Given the description of an element on the screen output the (x, y) to click on. 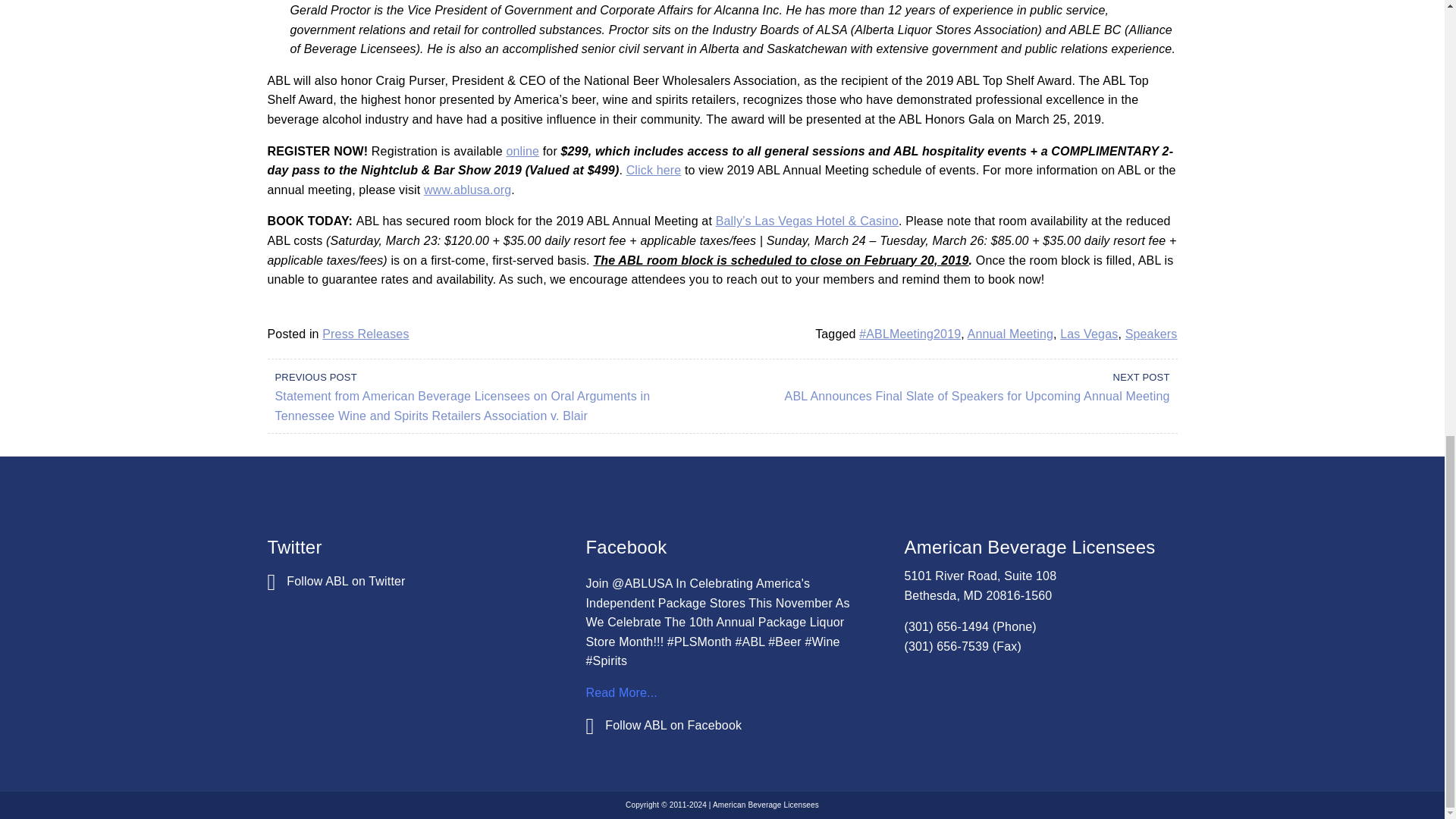
Twitter (335, 581)
Facebook (663, 725)
